Given the description of an element on the screen output the (x, y) to click on. 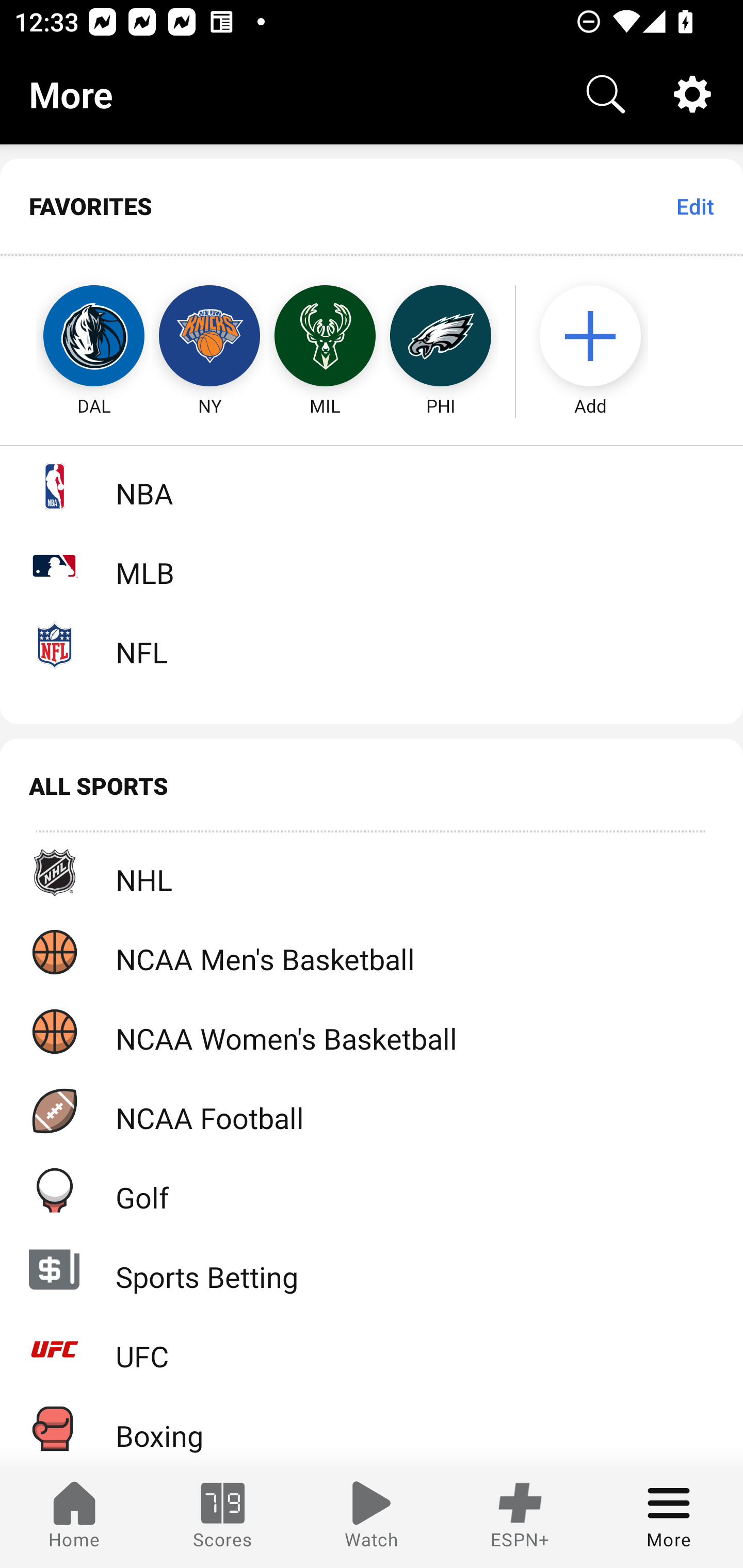
Search (605, 93)
Settings (692, 93)
Edit (695, 205)
DAL Dallas Mavericks (75, 336)
NY New York Knicks (209, 336)
MIL Milwaukee Bucks (324, 336)
PHI Philadelphia Eagles (440, 336)
 Add (599, 336)
NBA (371, 485)
MLB (371, 565)
NFL (371, 645)
NHL (371, 872)
NCAA Men's Basketball (371, 951)
NCAA Women's Basketball (371, 1030)
NCAA Football (371, 1110)
Golf (371, 1189)
Sports Betting (371, 1269)
UFC (371, 1349)
Boxing (371, 1428)
Home (74, 1517)
Scores (222, 1517)
Watch (371, 1517)
ESPN+ (519, 1517)
